Given the description of an element on the screen output the (x, y) to click on. 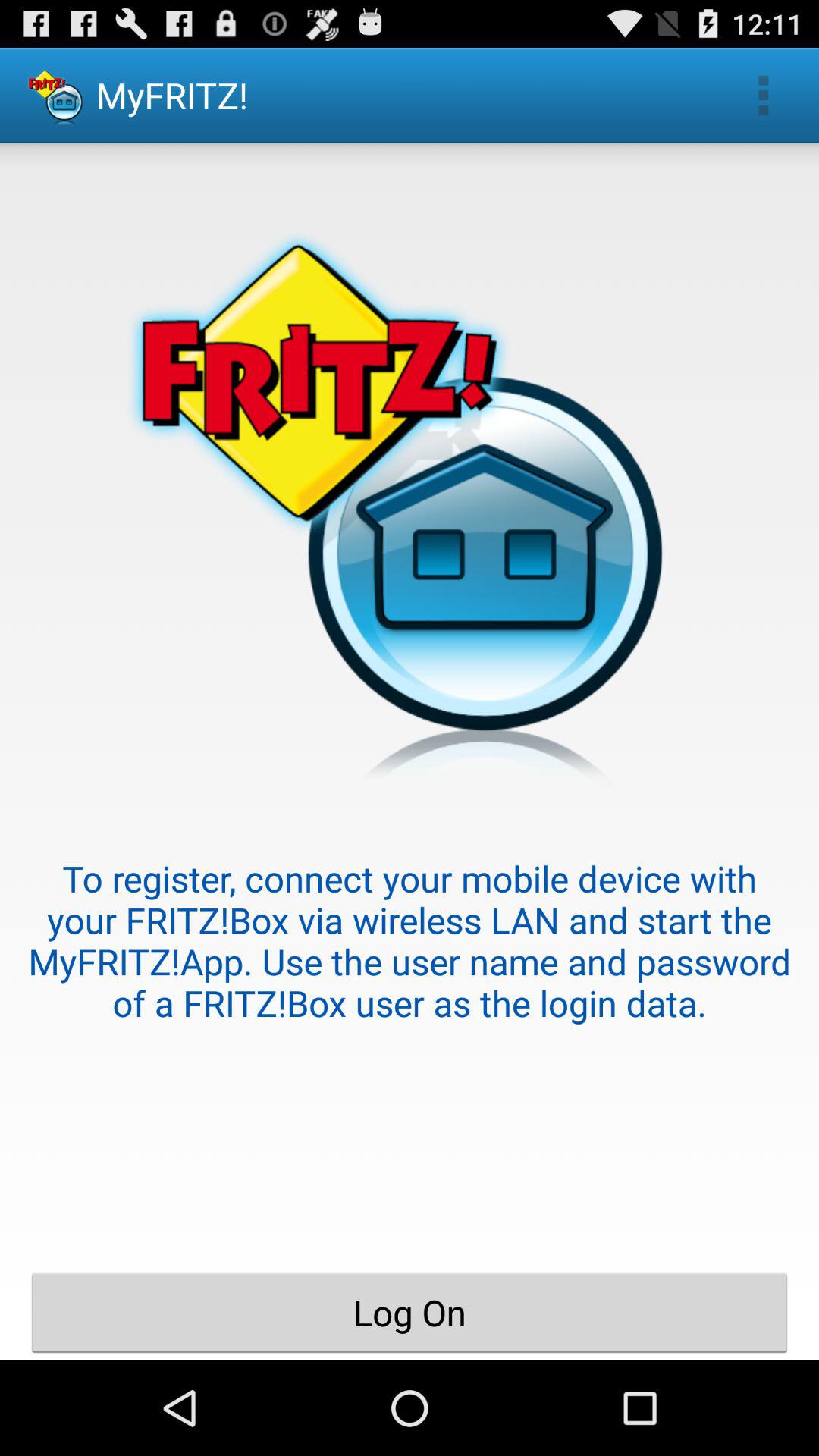
turn on the item next to myfritz! app (763, 95)
